Given the description of an element on the screen output the (x, y) to click on. 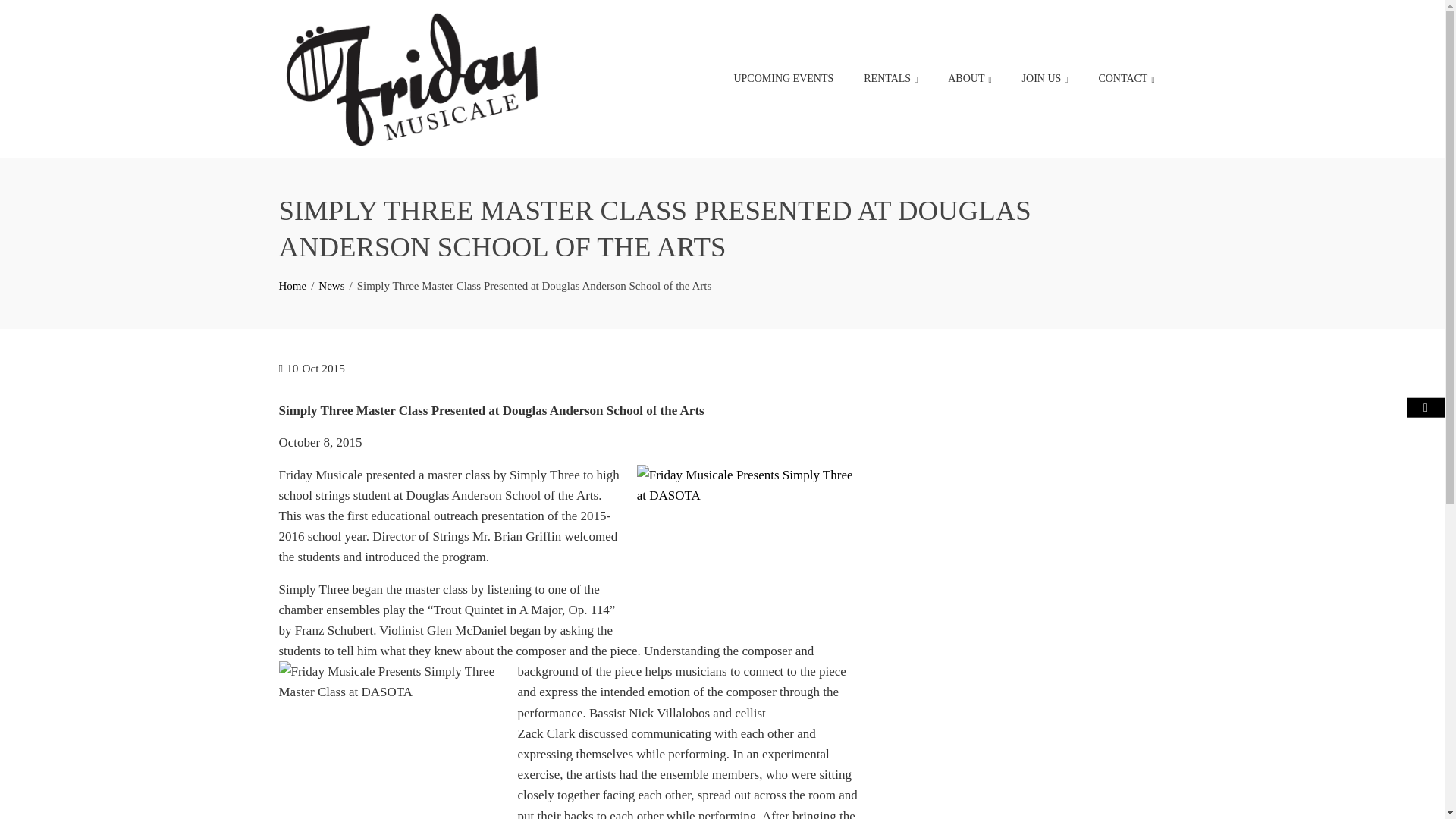
UPCOMING EVENTS (783, 78)
News (330, 285)
CONTACT (1126, 79)
ABOUT (969, 79)
RENTALS (889, 79)
Home (293, 285)
JOIN US (1045, 79)
